Given the description of an element on the screen output the (x, y) to click on. 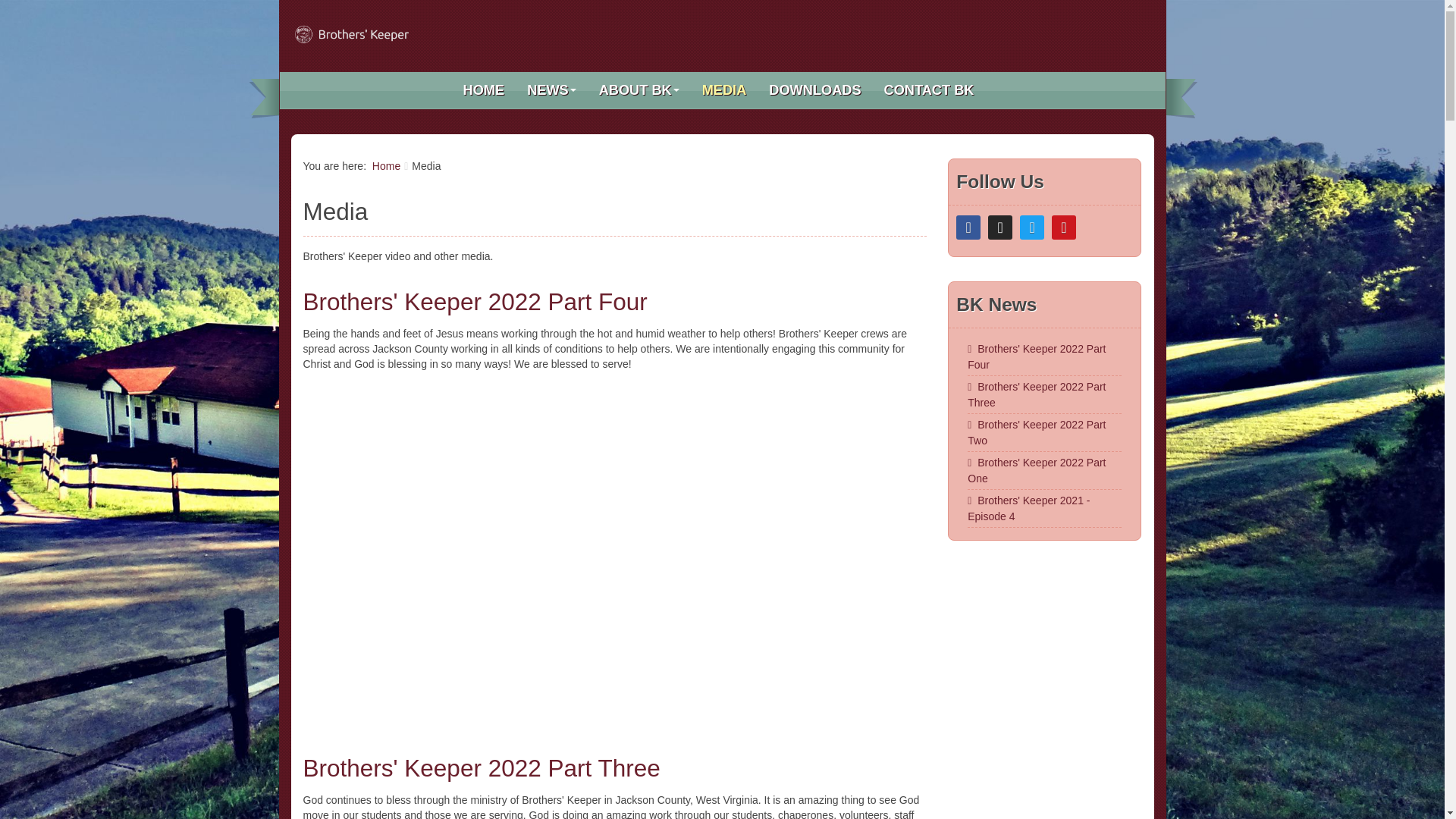
NEWS (551, 90)
ABOUT BK (639, 90)
HOME (483, 90)
Home (386, 165)
DOWNLOADS (814, 90)
CONTACT BK (928, 90)
Brothers' Keeper 2022 Part Three (481, 768)
Brothers' Keeper 2022 Part Four (474, 301)
MEDIA (724, 90)
